Given the description of an element on the screen output the (x, y) to click on. 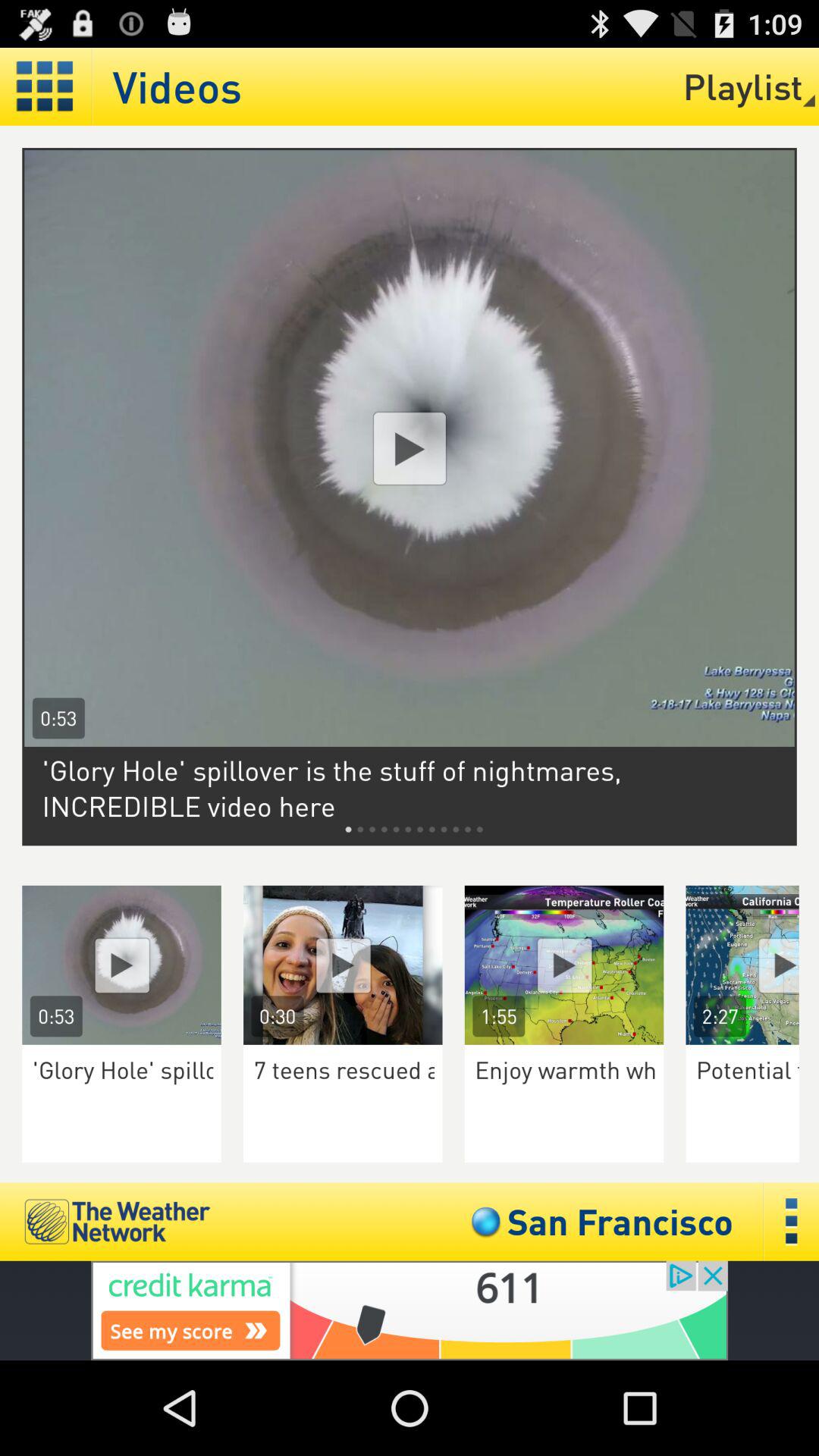
setting button (45, 86)
